Given the description of an element on the screen output the (x, y) to click on. 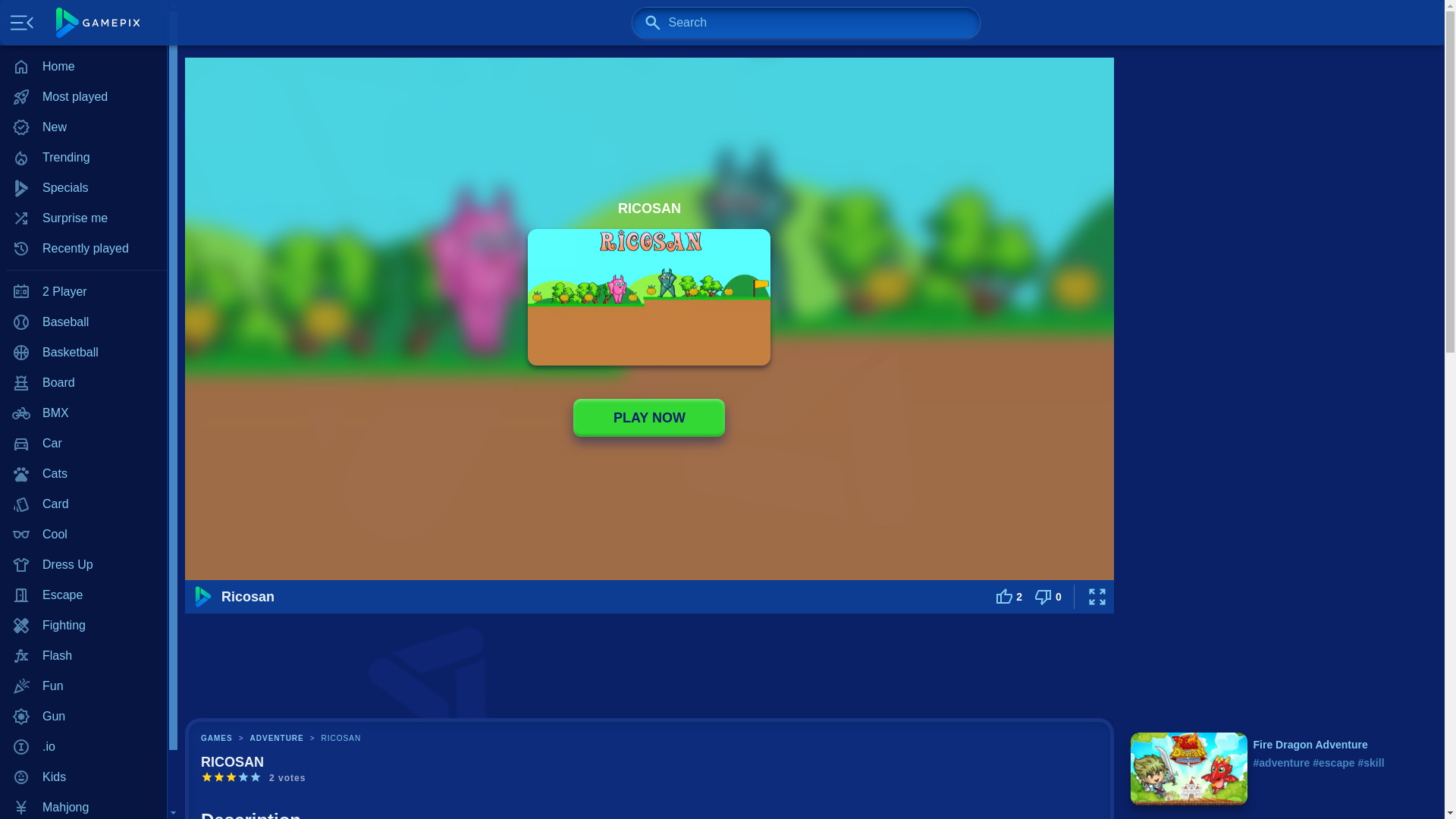
Mahjong (83, 805)
Home (83, 66)
Home (83, 66)
Recently played (83, 248)
Cool (83, 534)
Escape (83, 594)
Basketball (83, 352)
2 Player (83, 291)
Specials (83, 187)
Trending (83, 157)
New (83, 127)
Flash (83, 655)
Kids (83, 777)
Gun (83, 716)
Most played (83, 96)
